Given the description of an element on the screen output the (x, y) to click on. 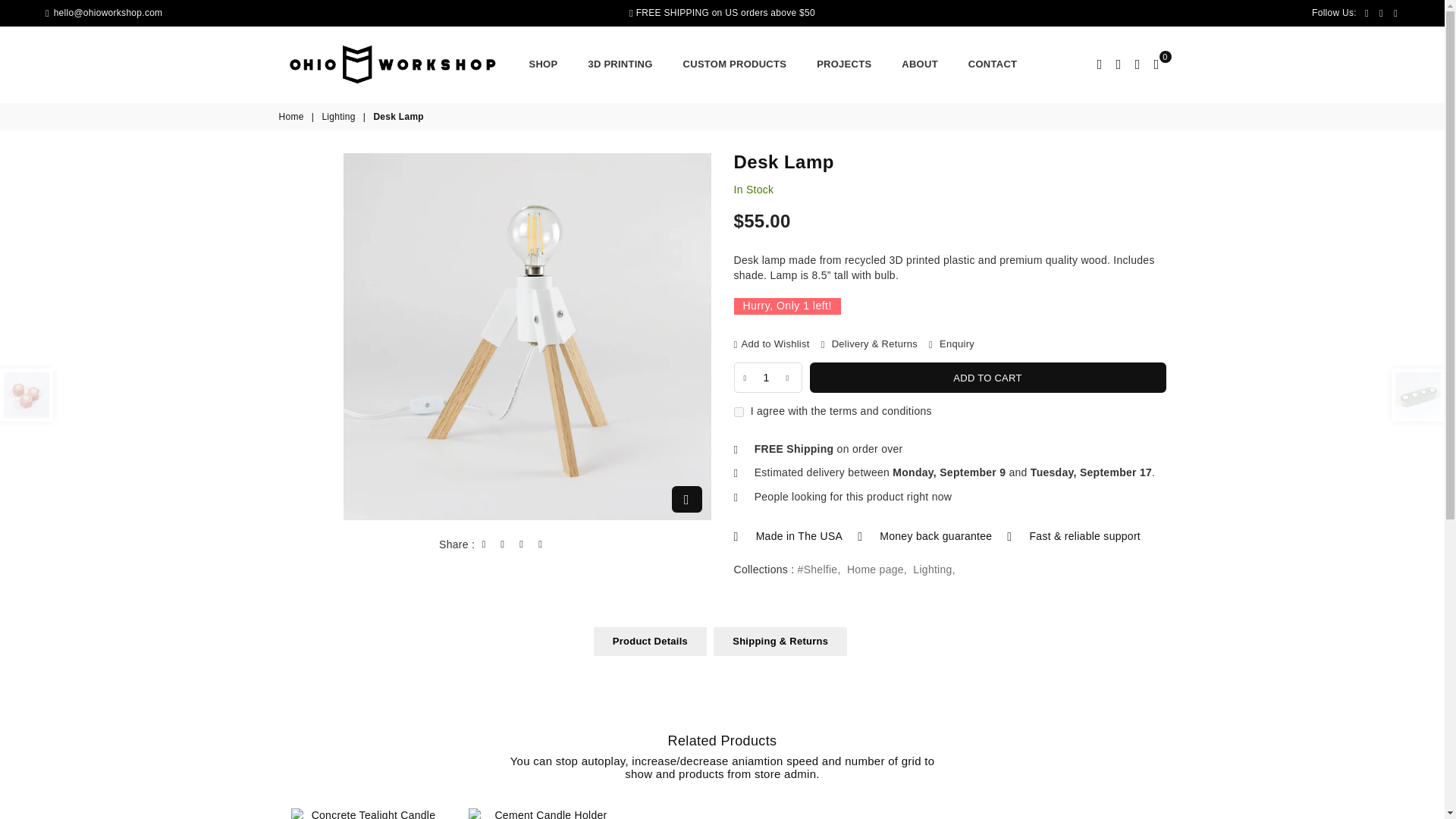
Ohio Workshop (404, 64)
ABOUT (919, 64)
tearm (738, 411)
Ohio Workshop on Pinterest (1381, 13)
Instagram (1396, 13)
Previous Product (26, 394)
Ohio Workshop on Instagram (1396, 13)
Lighting (338, 116)
Home (292, 116)
Facebook (1366, 13)
